Given the description of an element on the screen output the (x, y) to click on. 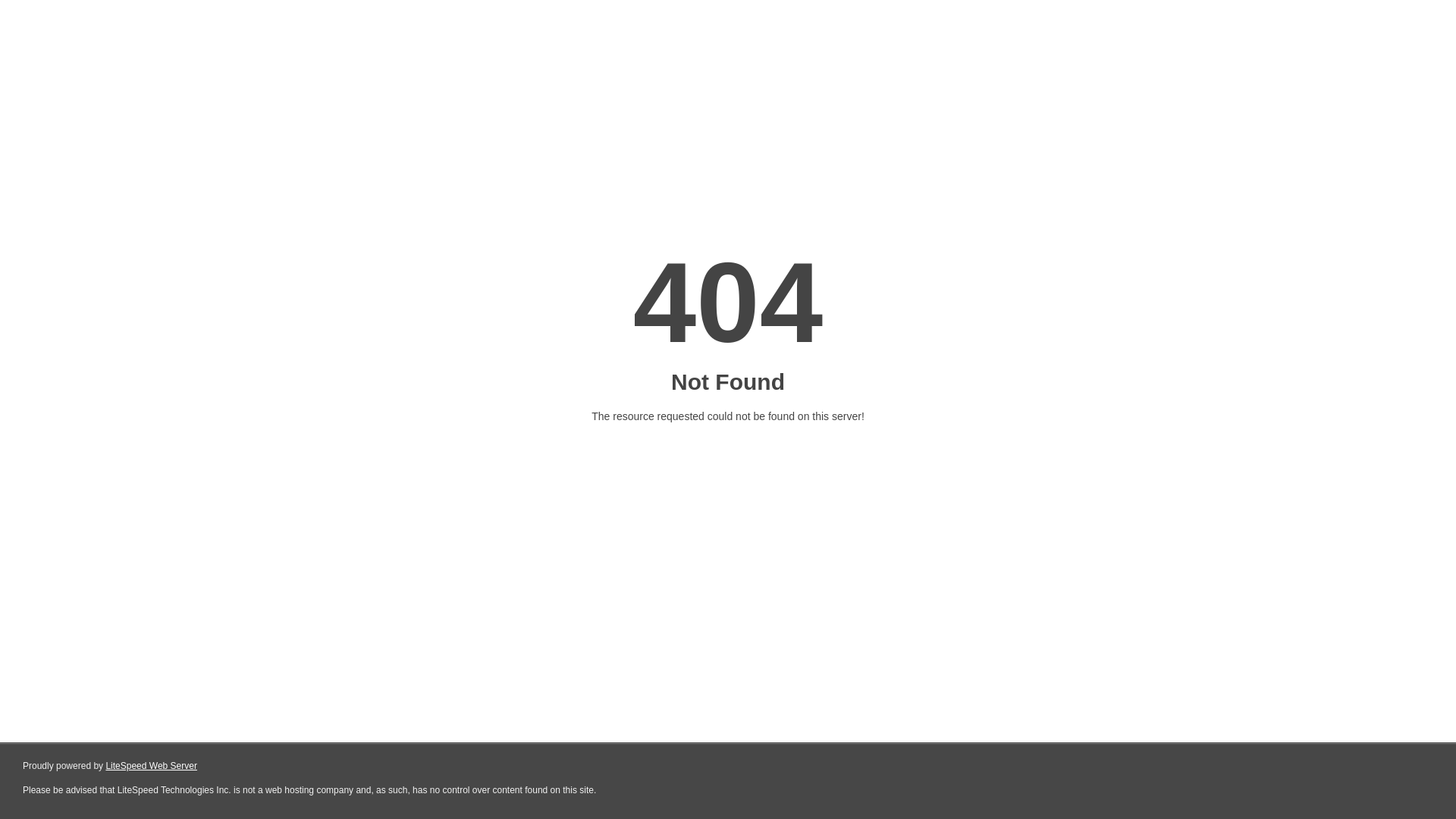
LiteSpeed Web Server Element type: text (151, 765)
